Given the description of an element on the screen output the (x, y) to click on. 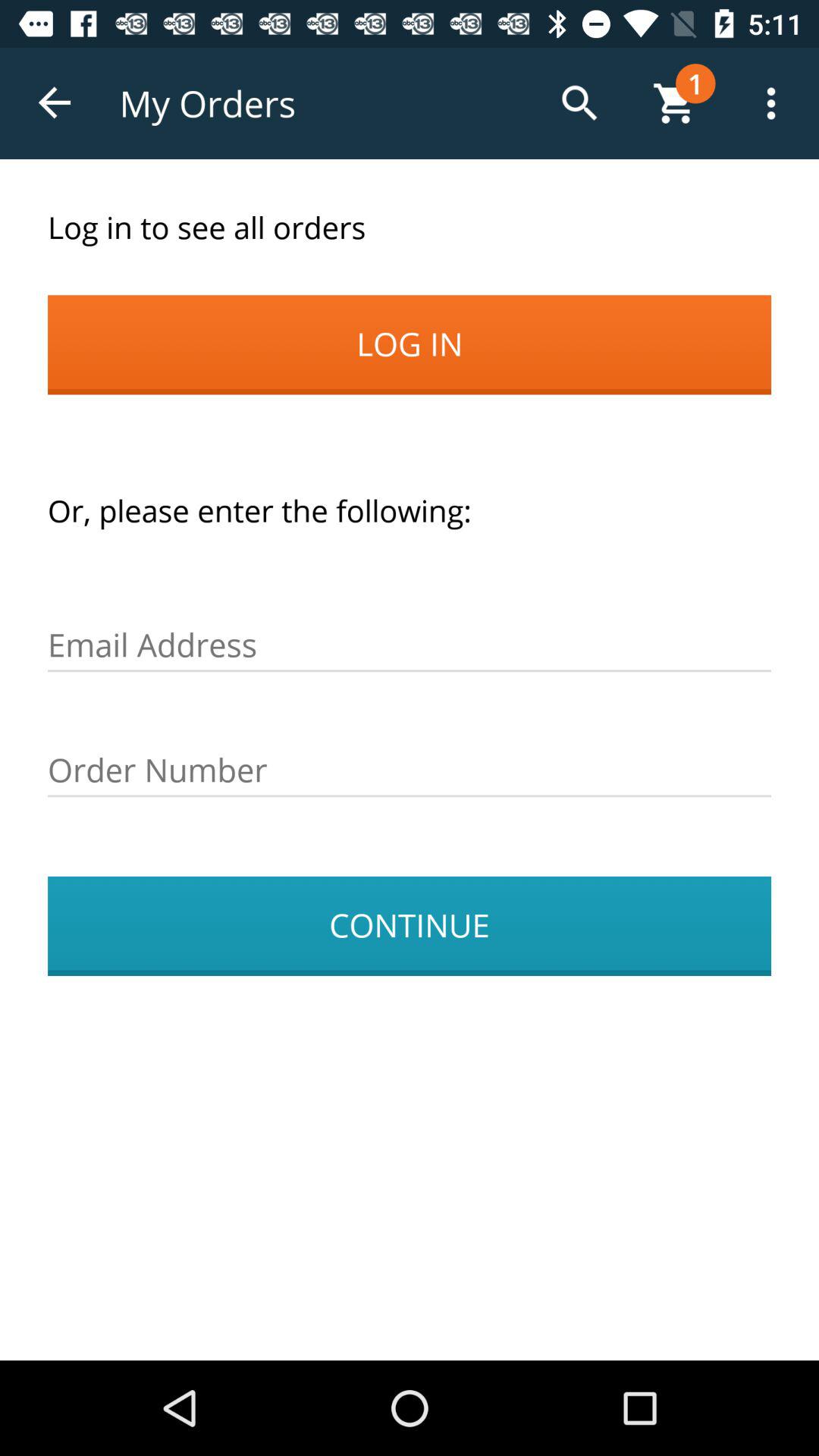
go back (55, 103)
